Given the description of an element on the screen output the (x, y) to click on. 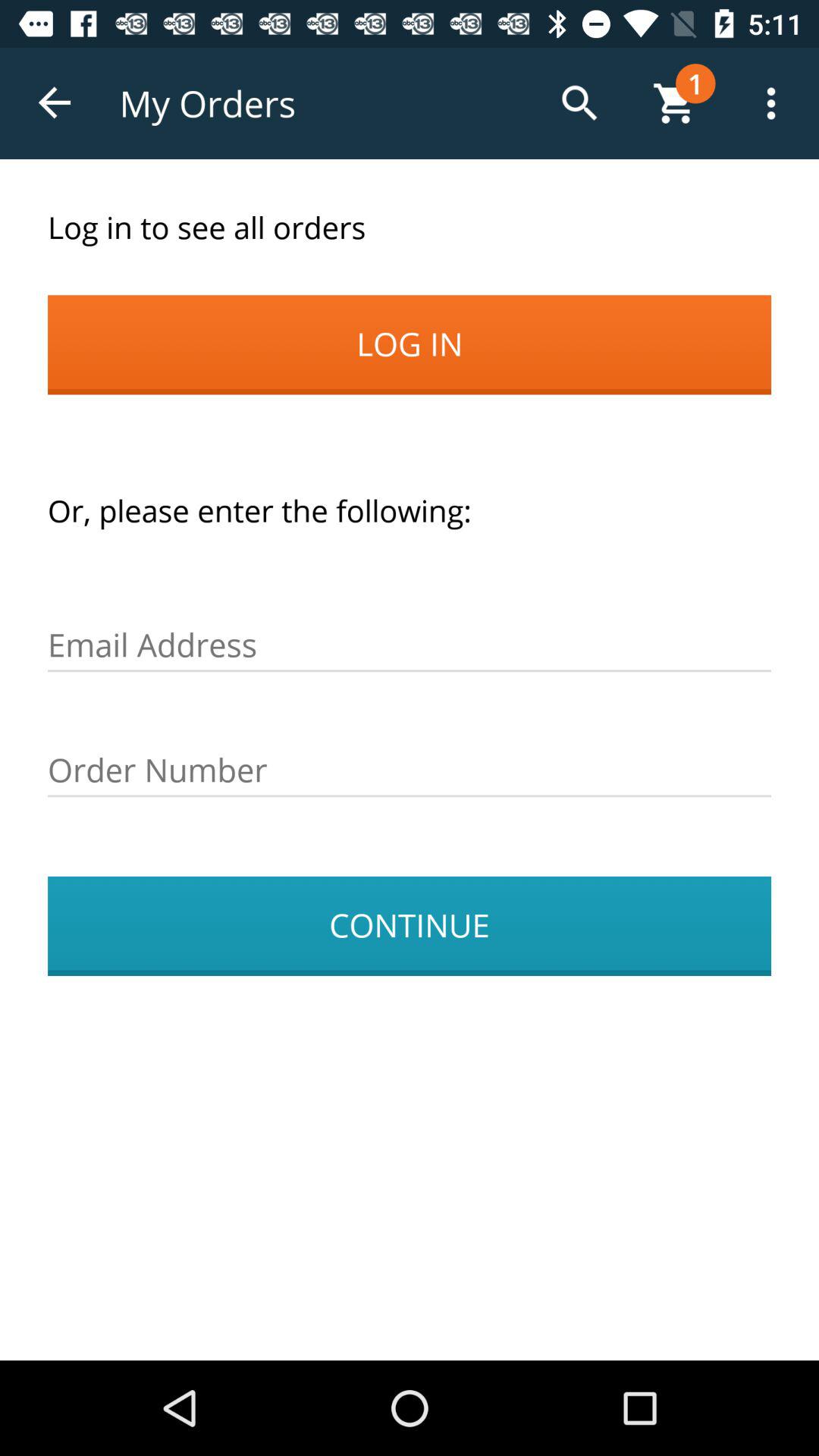
go back (55, 103)
